Given the description of an element on the screen output the (x, y) to click on. 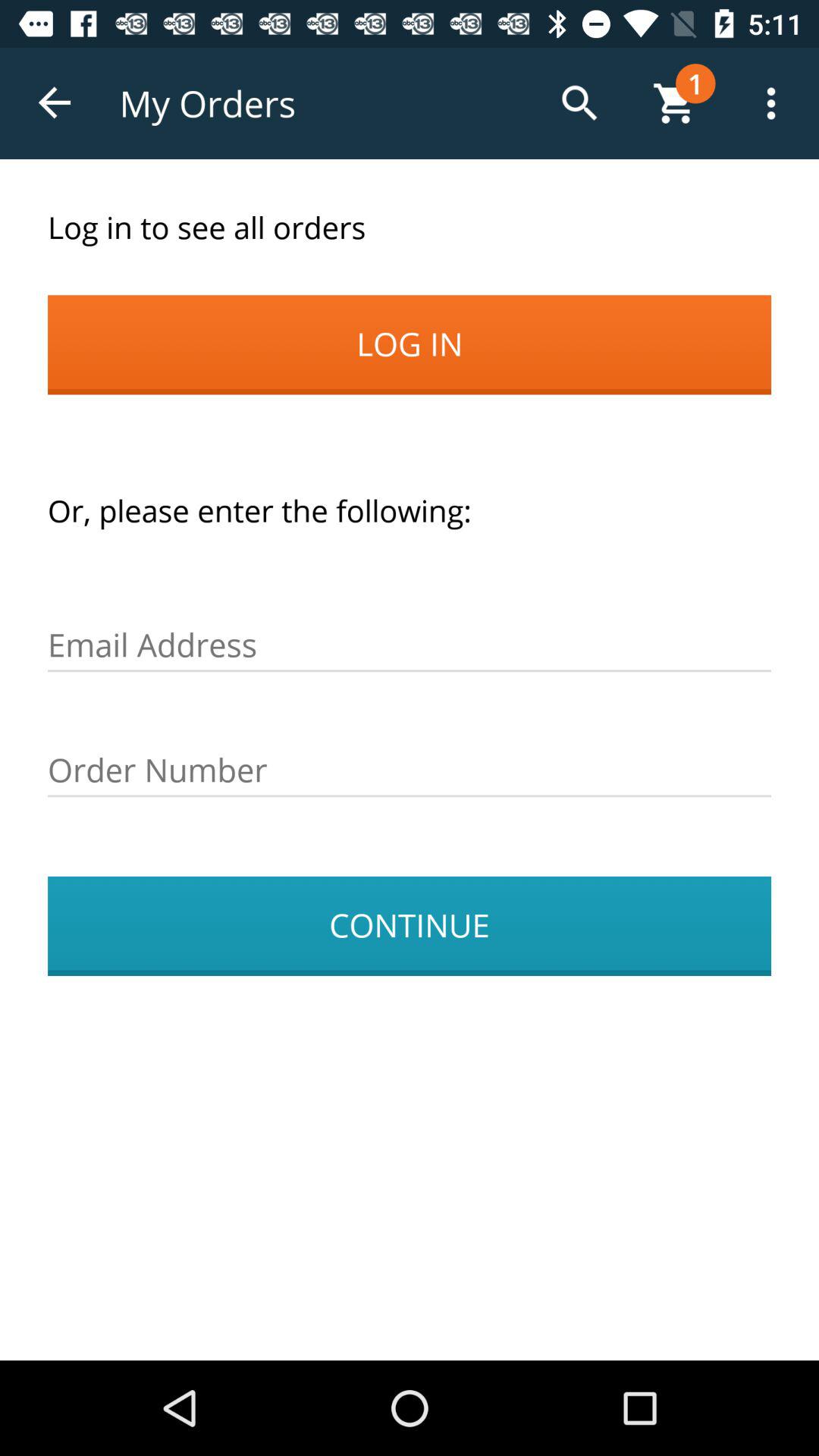
go back (55, 103)
